Given the description of an element on the screen output the (x, y) to click on. 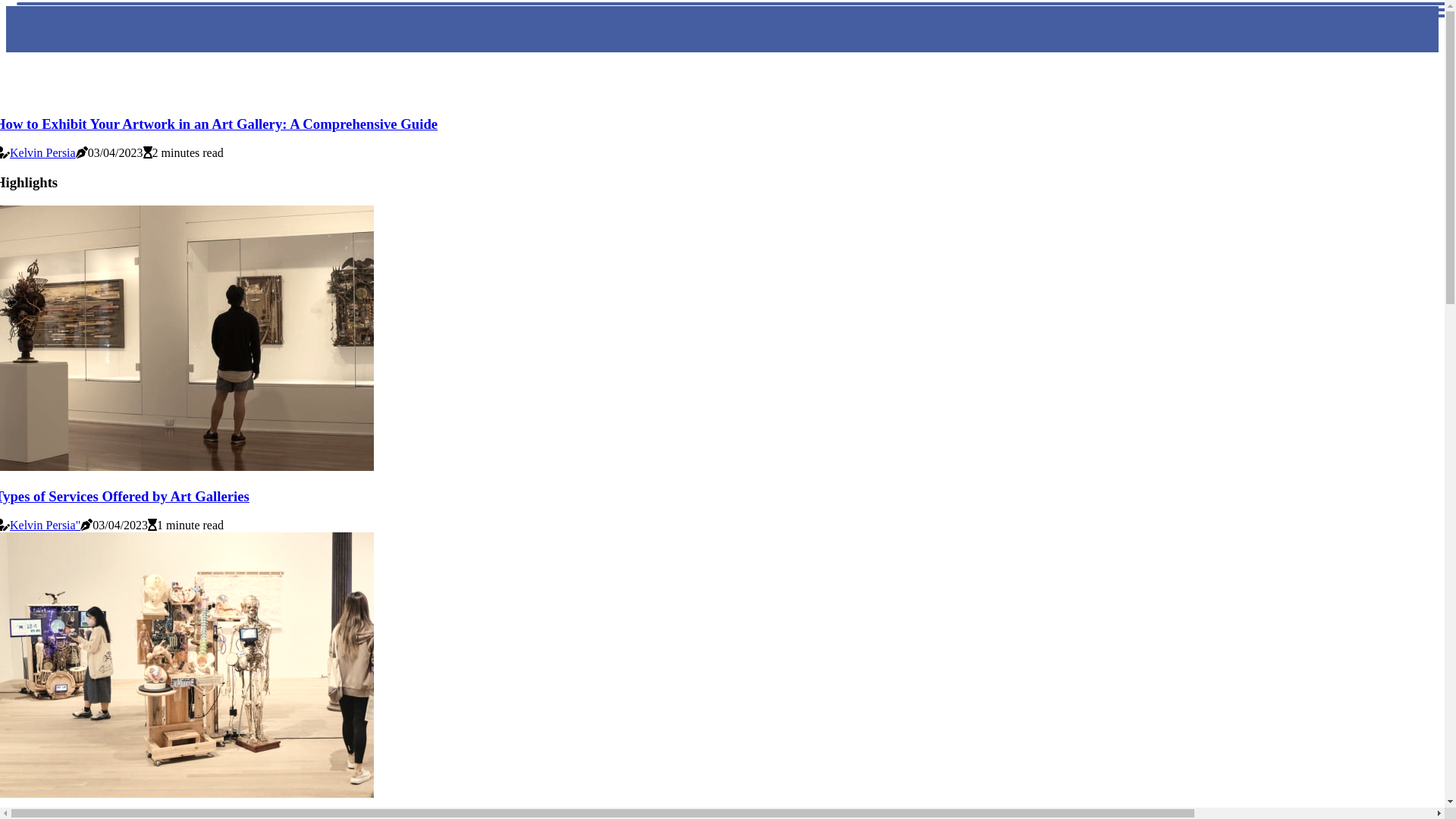
Kelvin Persia Element type: text (42, 152)
Kelvin Persia" Element type: text (44, 524)
